Given the description of an element on the screen output the (x, y) to click on. 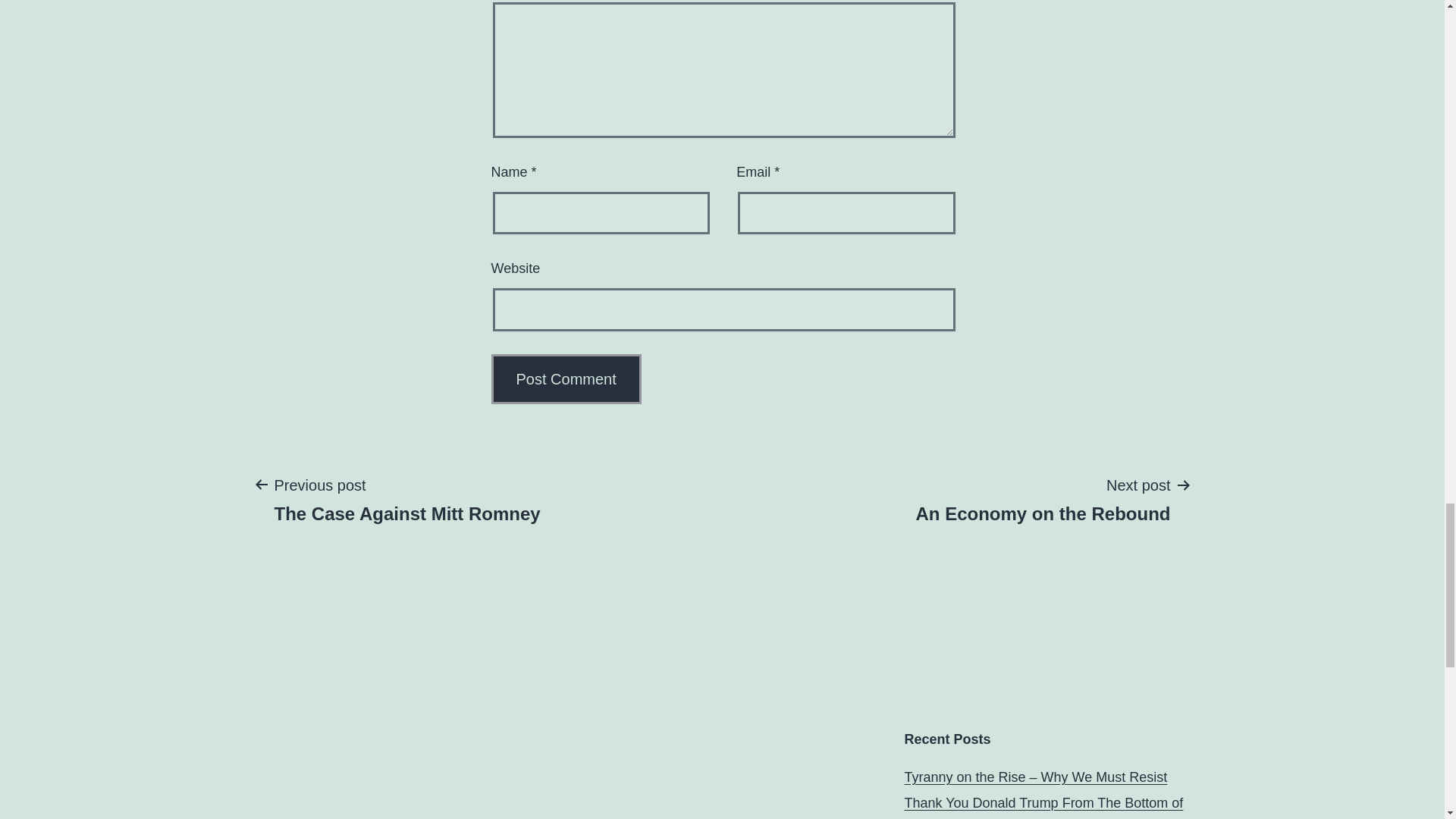
Post Comment (567, 378)
Post Comment (567, 378)
Thank You Donald Trump From The Bottom of My Soul (1043, 807)
